Given the description of an element on the screen output the (x, y) to click on. 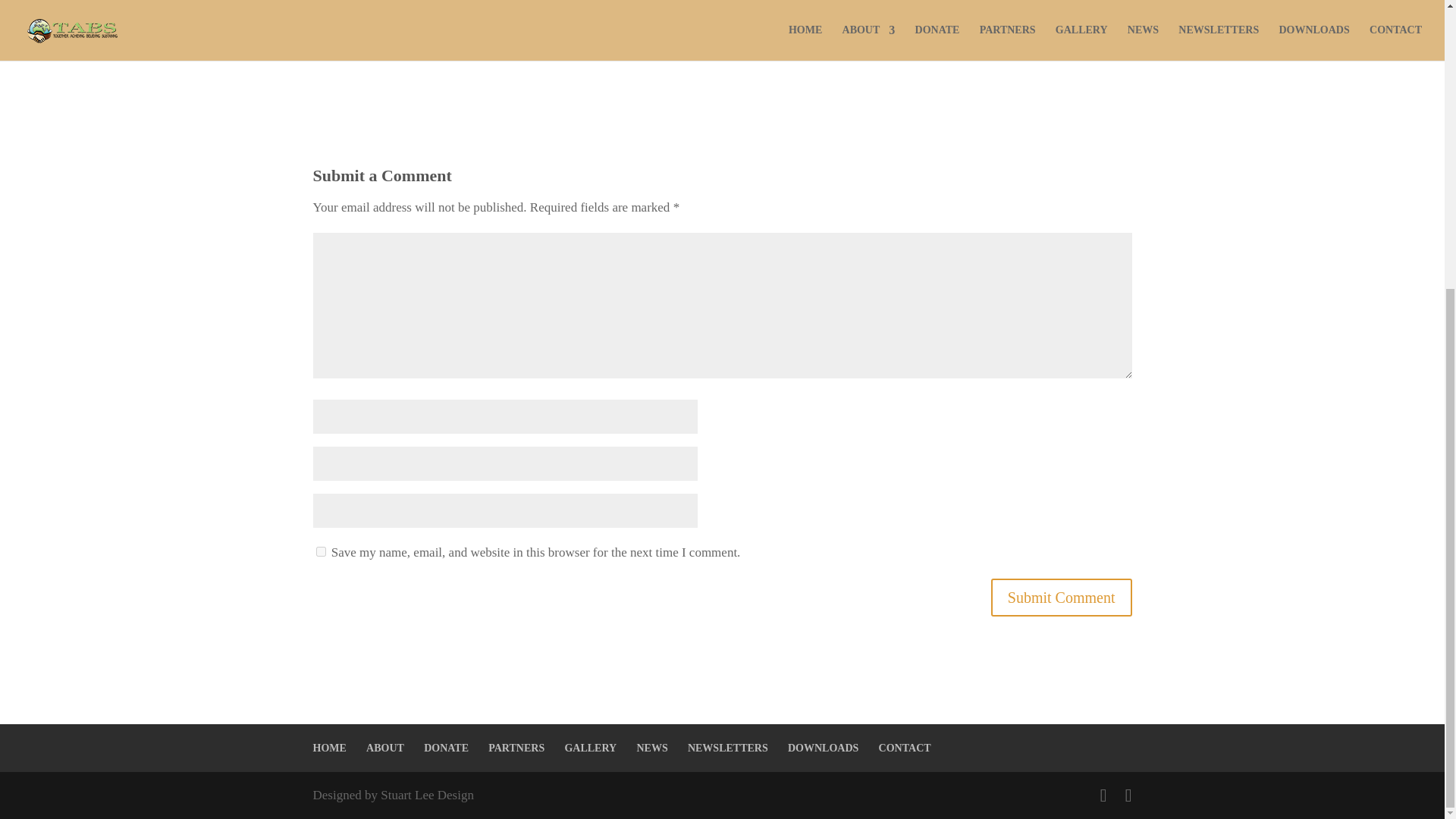
NEWS (651, 747)
yes (319, 551)
HOME (329, 747)
GALLERY (589, 747)
ABOUT (385, 747)
Submit Comment (1061, 597)
Submit Comment (1061, 597)
CONTACT (905, 747)
DONATE (445, 747)
PARTNERS (515, 747)
